Given the description of an element on the screen output the (x, y) to click on. 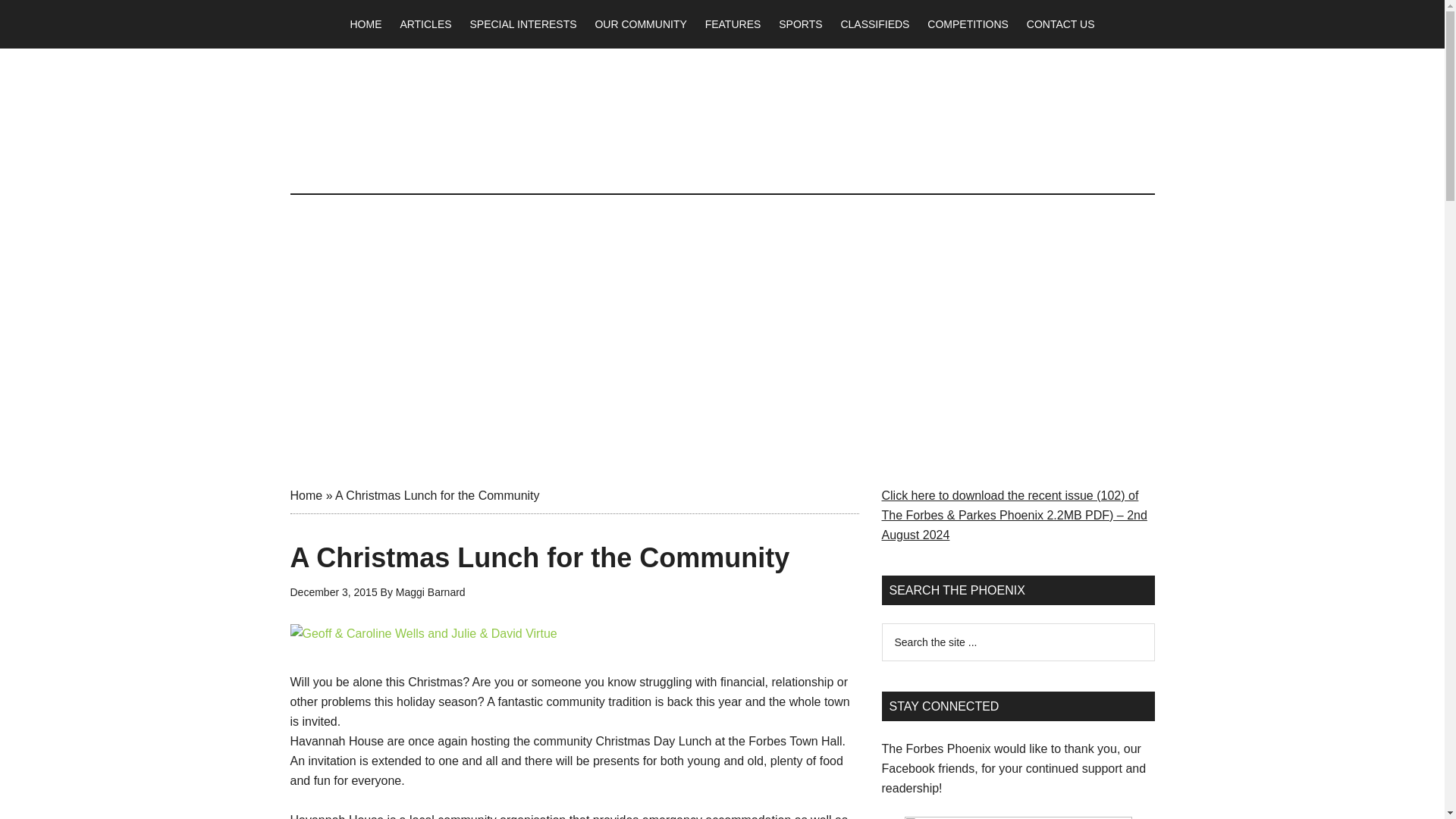
CONTACT US (1060, 24)
FEATURES (732, 24)
CLASSIFIEDS (874, 24)
HOME (365, 24)
ARTICLES (424, 24)
SPORTS (800, 24)
OUR COMMUNITY (640, 24)
COMPETITIONS (968, 24)
SPECIAL INTERESTS (522, 24)
